Given the description of an element on the screen output the (x, y) to click on. 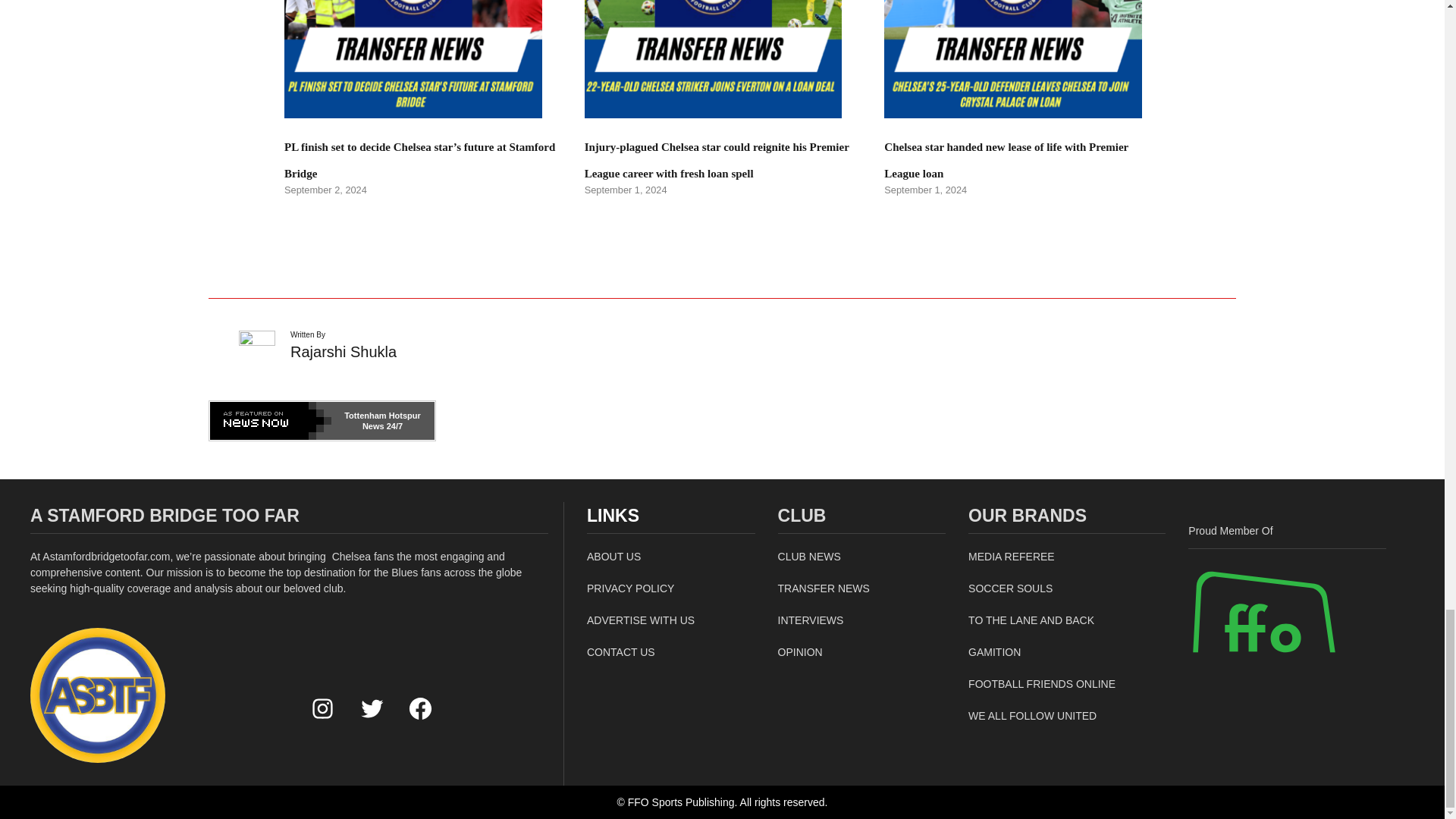
3:22 am (324, 189)
Click here for more Tottenham Hotspur news from NewsNow (321, 420)
5:00 am (625, 189)
chelsea logo (97, 695)
4:26 am (924, 189)
